Given the description of an element on the screen output the (x, y) to click on. 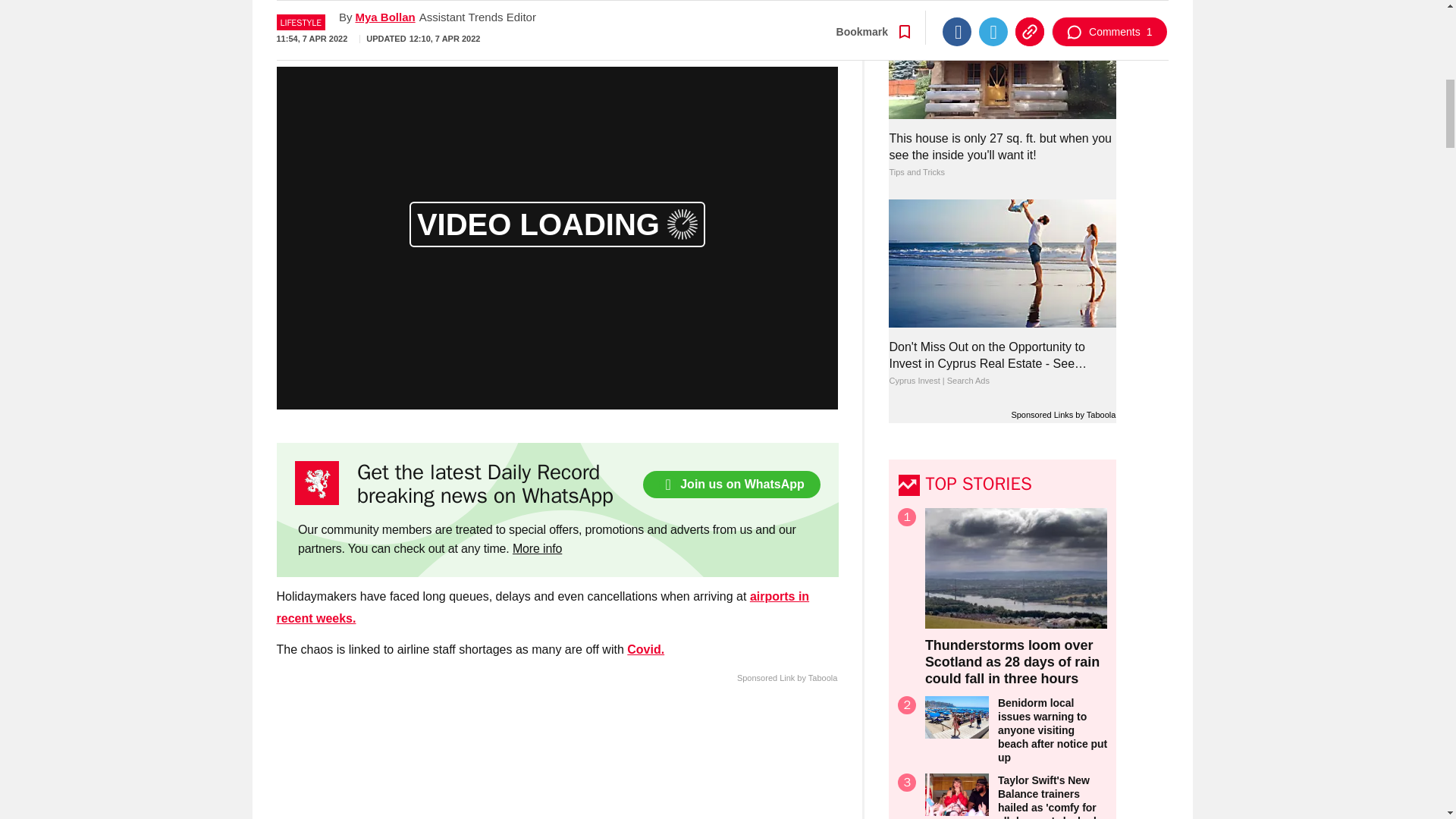
Go (730, 17)
